Given the description of an element on the screen output the (x, y) to click on. 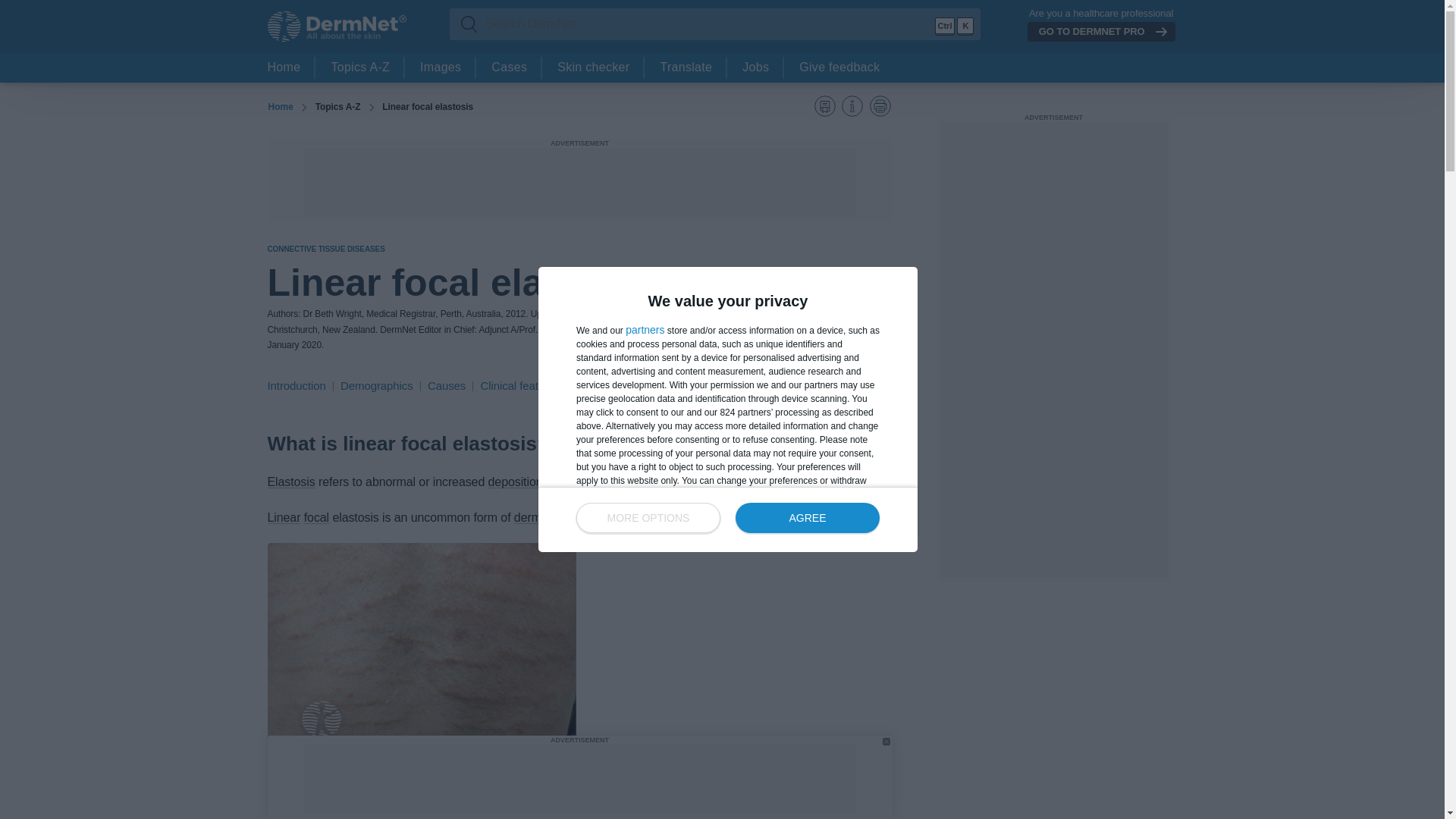
Home (283, 67)
Translate (685, 67)
Home (280, 106)
partners (644, 329)
Skin checker (593, 67)
Home (280, 106)
Toggle glossary items (824, 105)
AGREE (807, 517)
Print this page (879, 105)
Give feedback (839, 67)
DermNet (336, 26)
View topic information (852, 105)
Cases (508, 67)
Topics A-Z (359, 67)
Topics A-Z (337, 106)
